Given the description of an element on the screen output the (x, y) to click on. 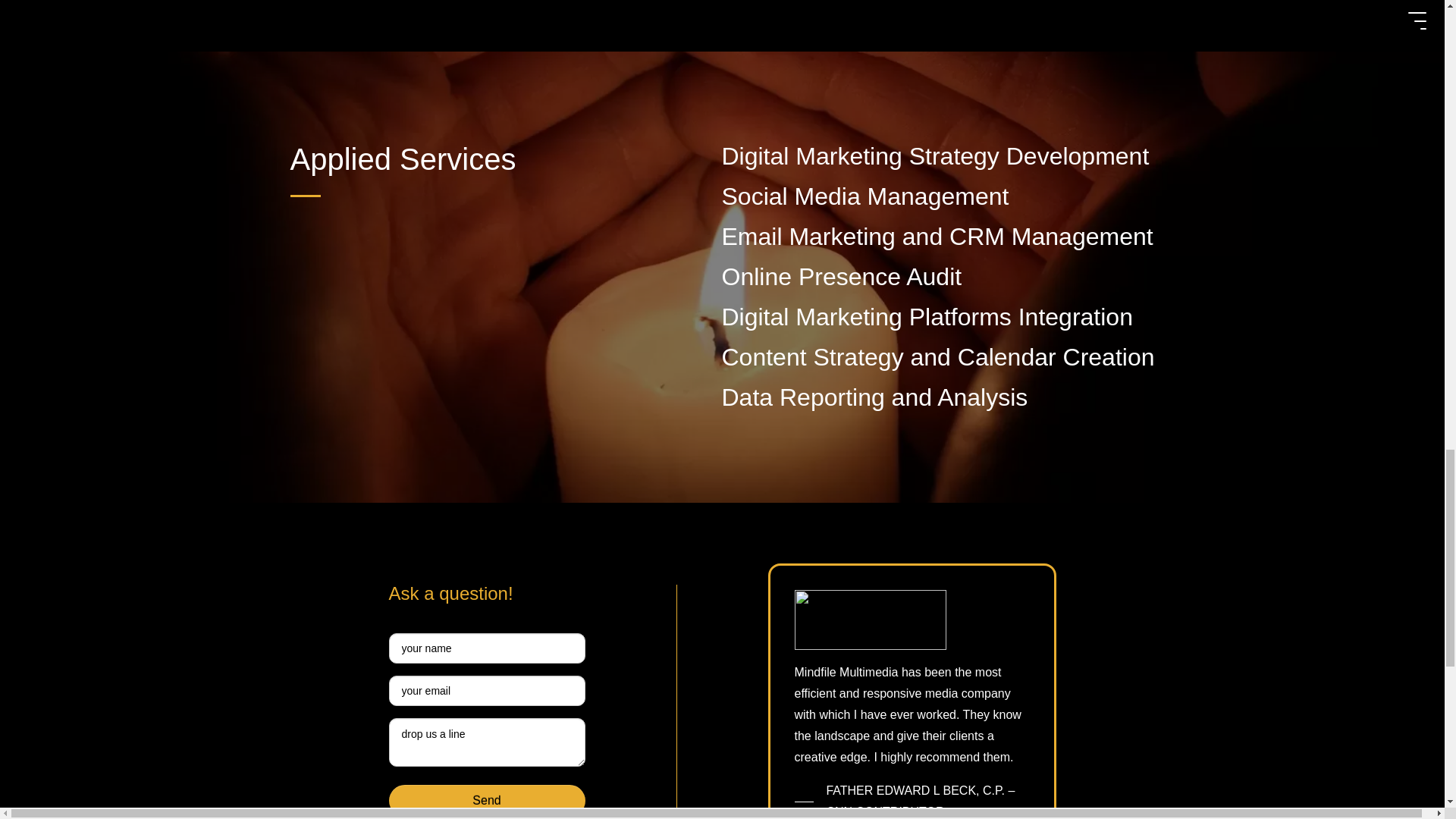
Send (486, 799)
Send (486, 799)
